Given the description of an element on the screen output the (x, y) to click on. 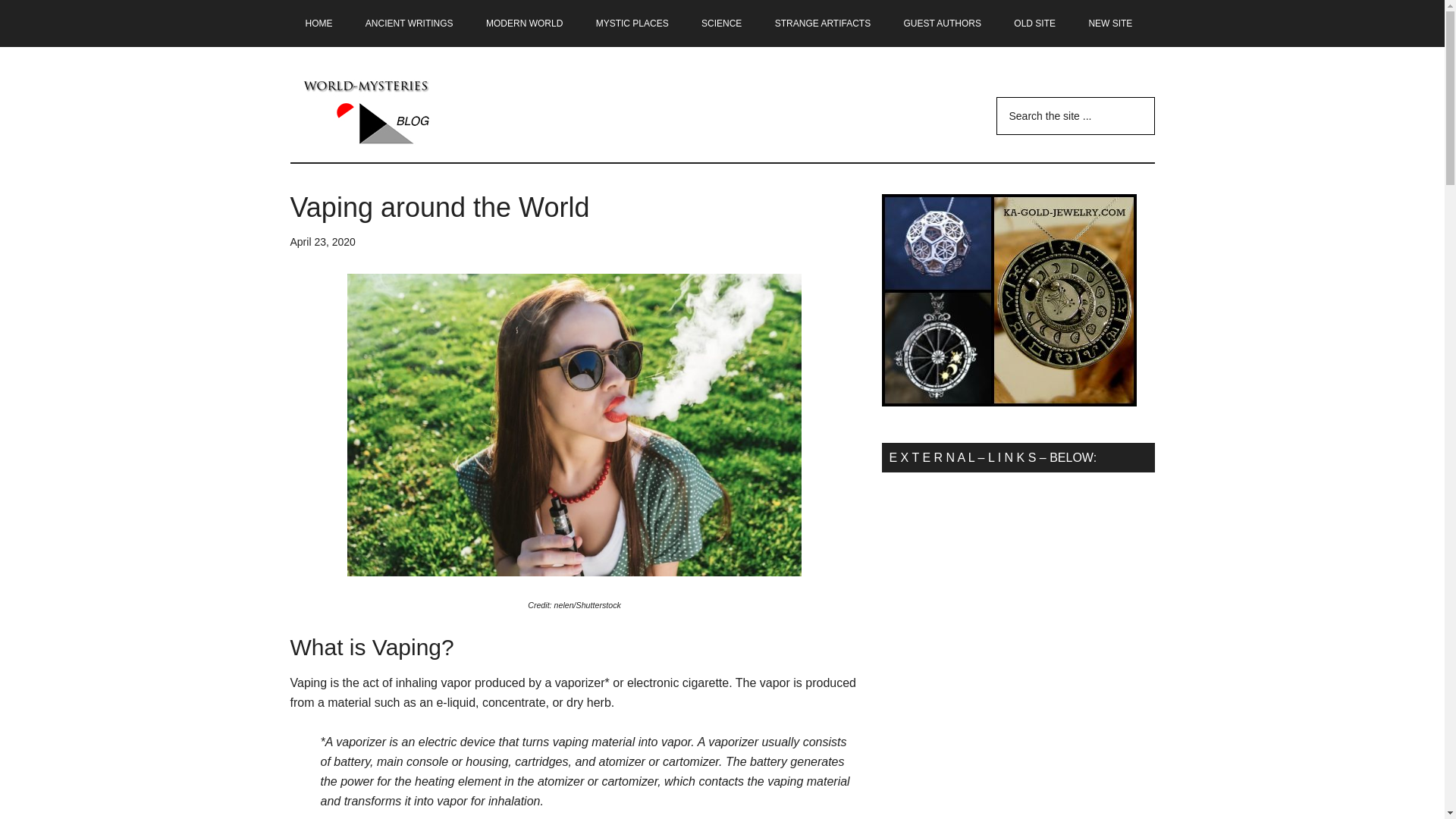
MYSTIC PLACES (632, 23)
MODERN WORLD (524, 23)
HOME (318, 23)
GUEST AUTHORS (941, 23)
STRANGE ARTIFACTS (822, 23)
SCIENCE (721, 23)
World Mysteries Blog (433, 112)
